Given the description of an element on the screen output the (x, y) to click on. 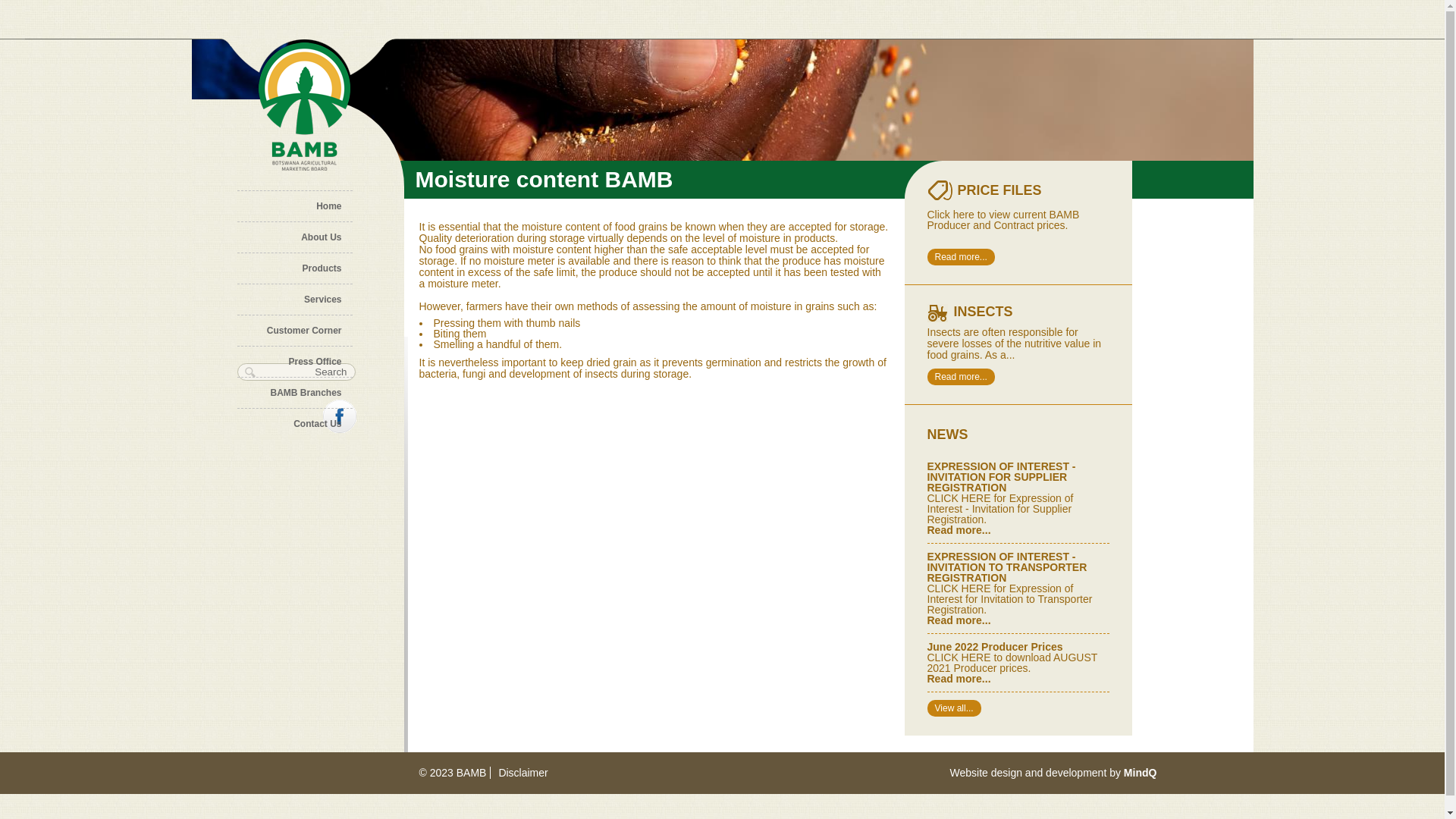
About Us Element type: text (293, 237)
Read more... Element type: text (960, 256)
Read more... Element type: text (958, 530)
View all... Element type: text (953, 707)
Read more... Element type: text (958, 678)
Disclaimer Element type: text (518, 772)
Website design and development by MindQ Element type: text (1052, 772)
Home Element type: text (293, 206)
Customer Corner Element type: text (293, 330)
Products Element type: text (293, 268)
Read more... Element type: text (960, 376)
BAMB Branches Element type: text (293, 392)
Enter the terms you wish to search for. Element type: hover (295, 371)
Read more... Element type: text (958, 620)
Press Office Element type: text (293, 361)
Contact Us Element type: text (293, 423)
Services Element type: text (293, 299)
Home Element type: hover (303, 107)
Skip to main content Element type: text (48, 0)
June 2022 Producer Prices Element type: text (994, 646)
INSECTS Element type: text (983, 311)
